Given the description of an element on the screen output the (x, y) to click on. 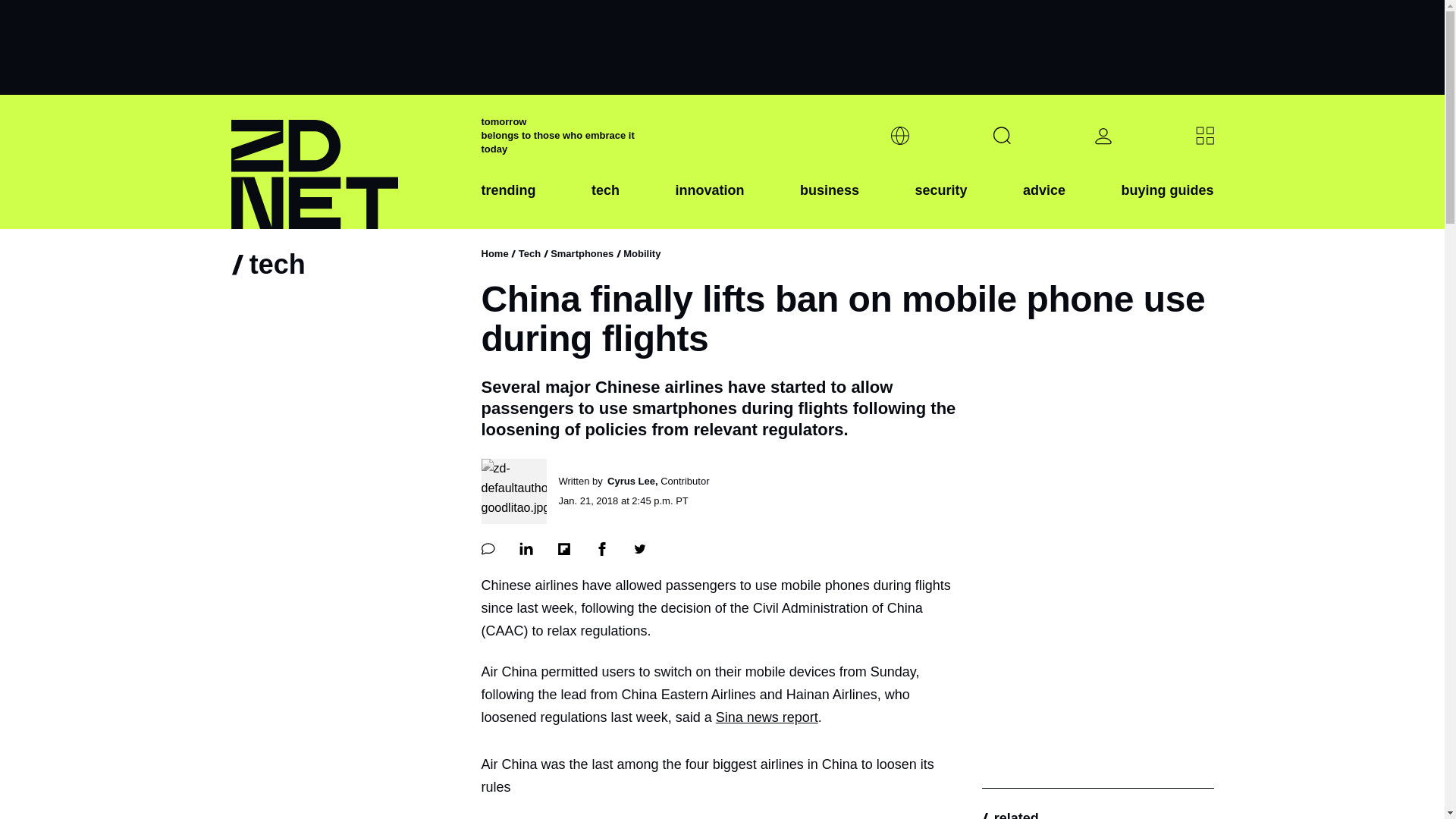
ZDNET (346, 162)
trending (507, 202)
